Given the description of an element on the screen output the (x, y) to click on. 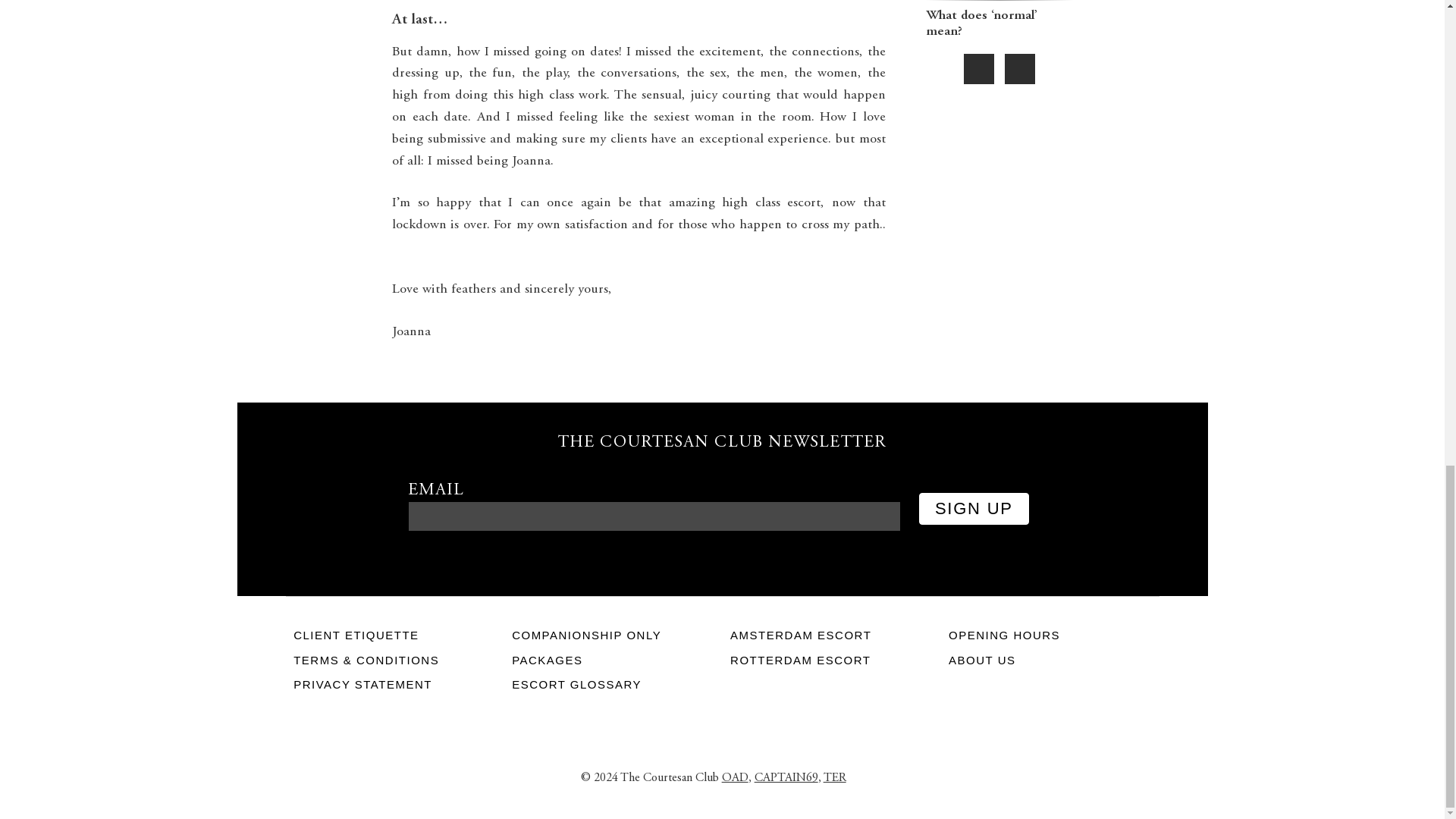
CAPTAIN69 (786, 778)
Sign up (973, 508)
PACKAGES (613, 660)
TER (834, 778)
OAD (735, 778)
COMPANIONSHIP ONLY (613, 635)
PRIVACY STATEMENT (395, 684)
Sign up (973, 508)
ESCORT GLOSSARY (613, 684)
CLIENT ETIQUETTE (395, 635)
